Given the description of an element on the screen output the (x, y) to click on. 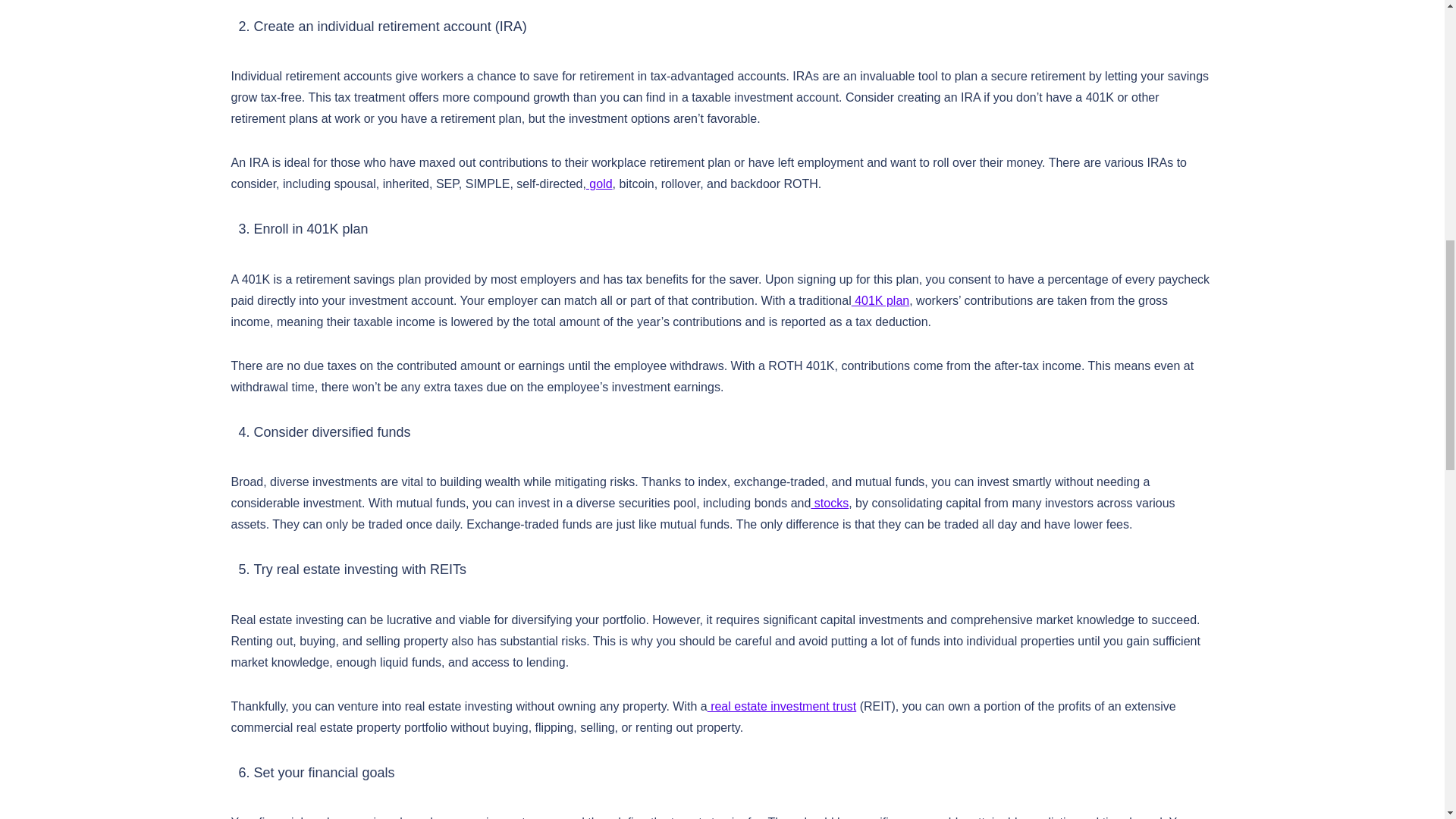
gold (599, 183)
